Given the description of an element on the screen output the (x, y) to click on. 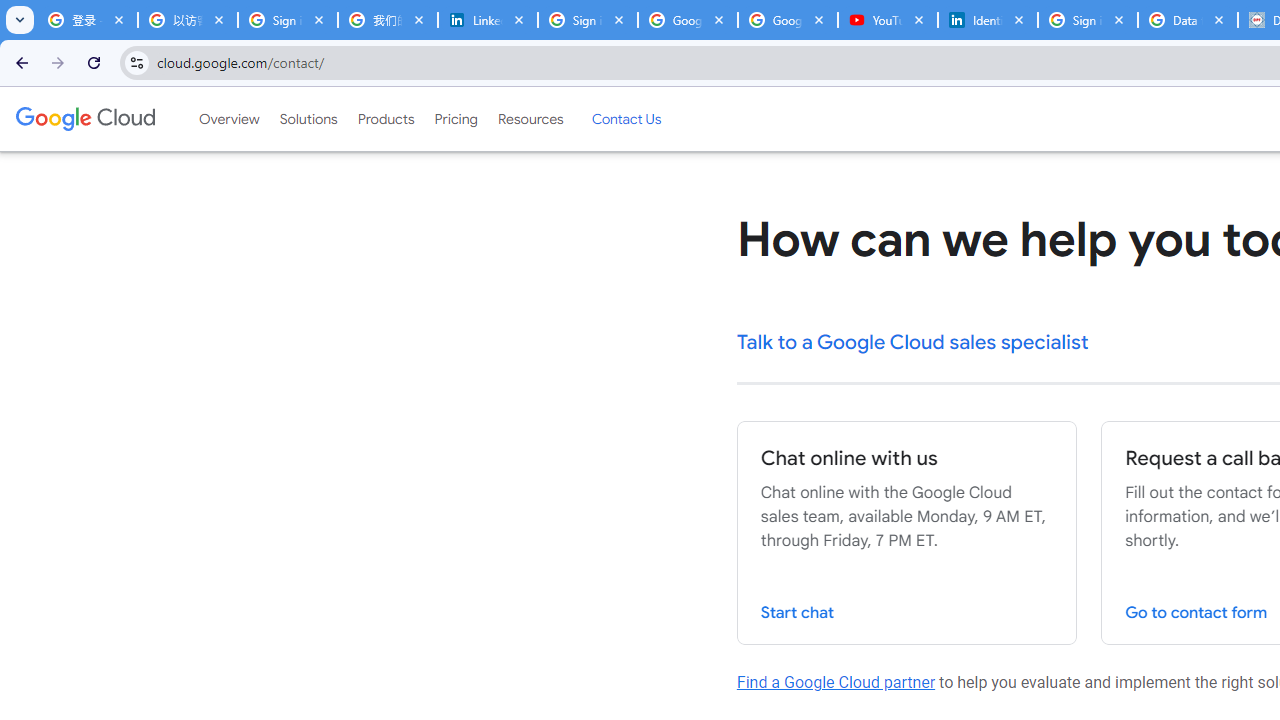
Find a Google Cloud partner (835, 682)
LinkedIn Privacy Policy (487, 20)
Sign in - Google Accounts (287, 20)
Sign in - Google Accounts (587, 20)
